Given the description of an element on the screen output the (x, y) to click on. 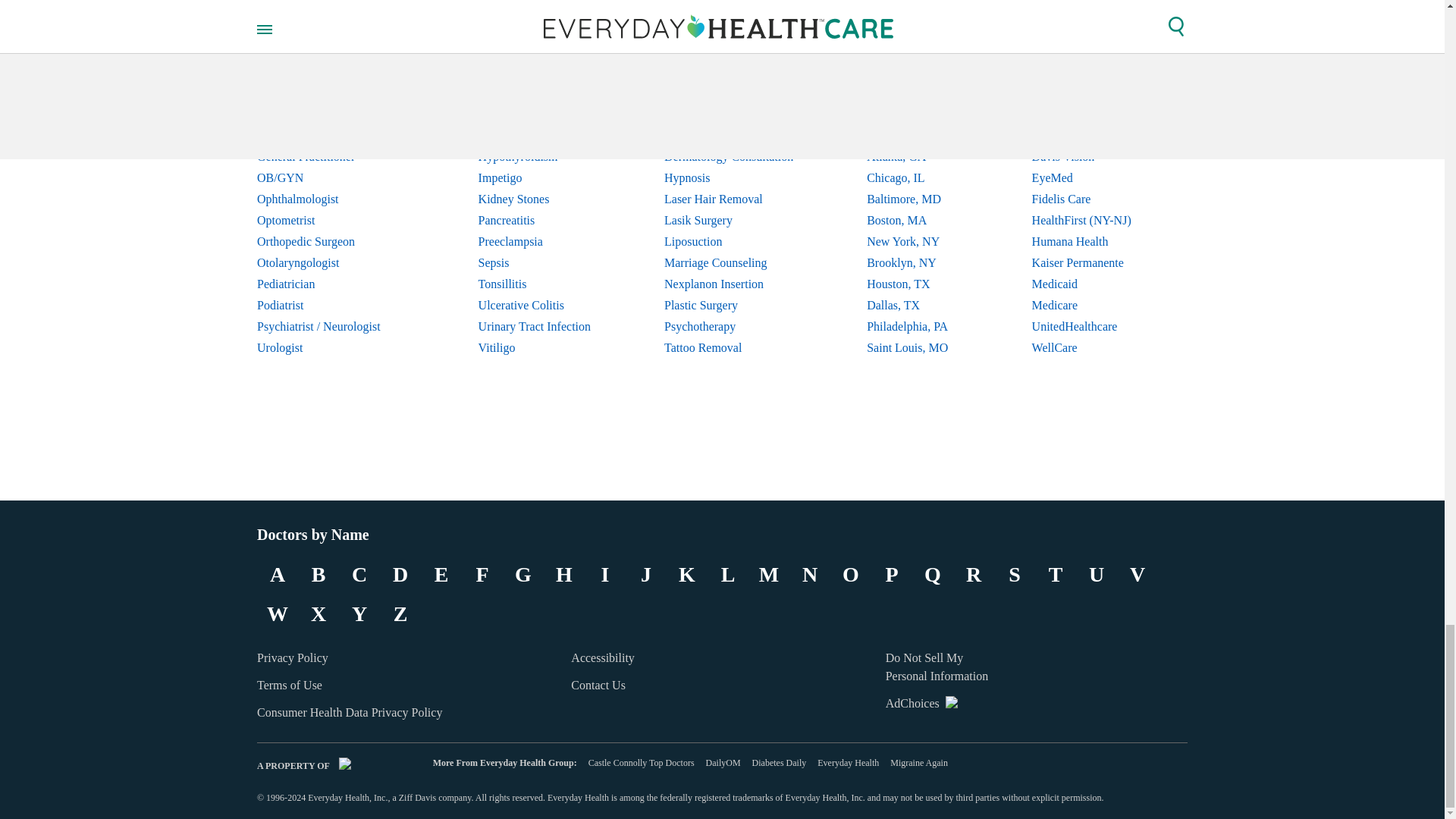
Orthopedic Surgeon (330, 241)
Endocrinologist (330, 114)
Addiction Medicine Specialist (330, 50)
Dermatologist (330, 93)
Podiatrist (330, 305)
Pediatrician (330, 283)
Optometrist (330, 219)
Ophthalmologist (330, 199)
General Practitioner (330, 156)
Cardiologist (330, 71)
